Given the description of an element on the screen output the (x, y) to click on. 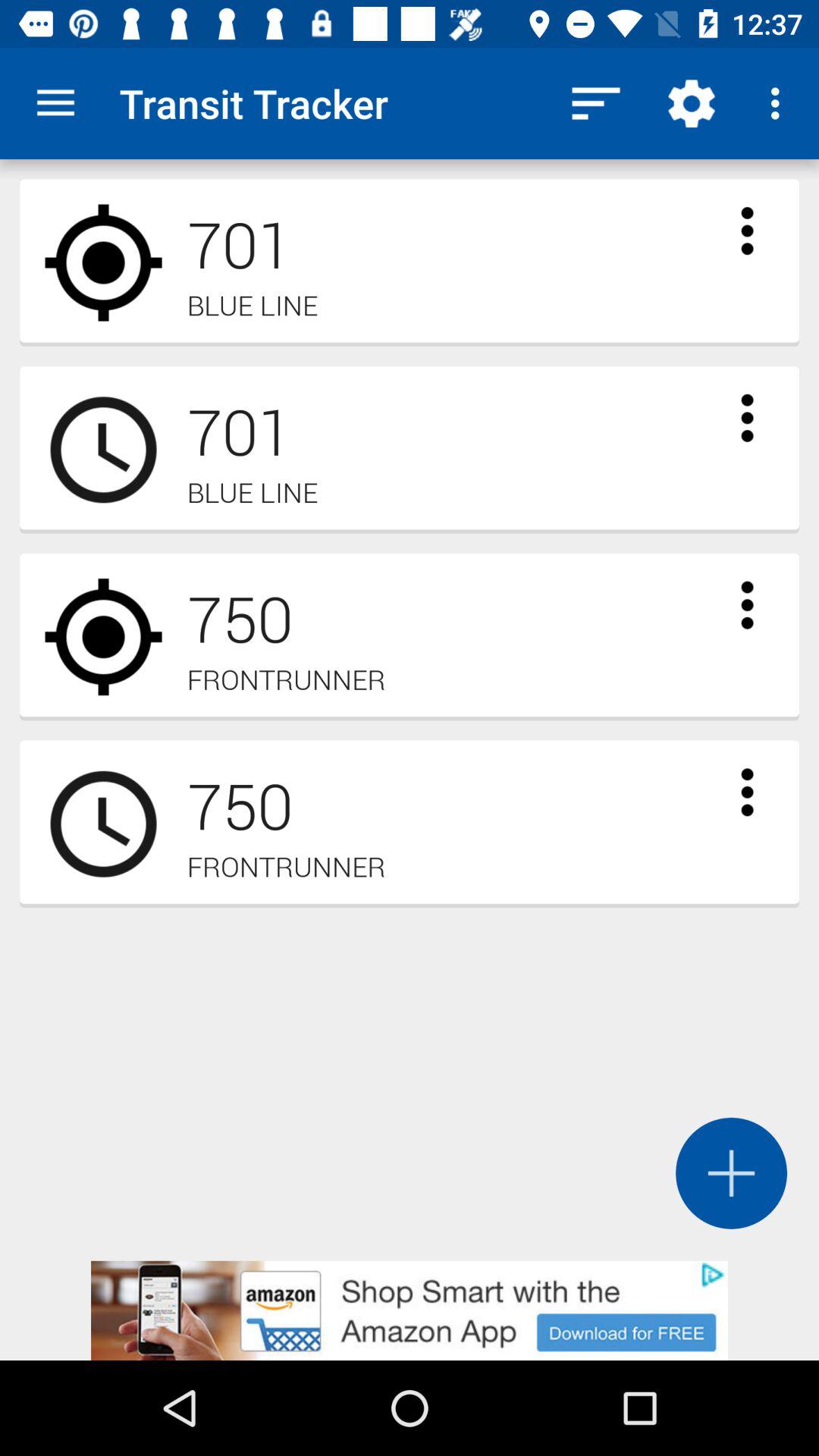
expand transit option (747, 230)
